Given the description of an element on the screen output the (x, y) to click on. 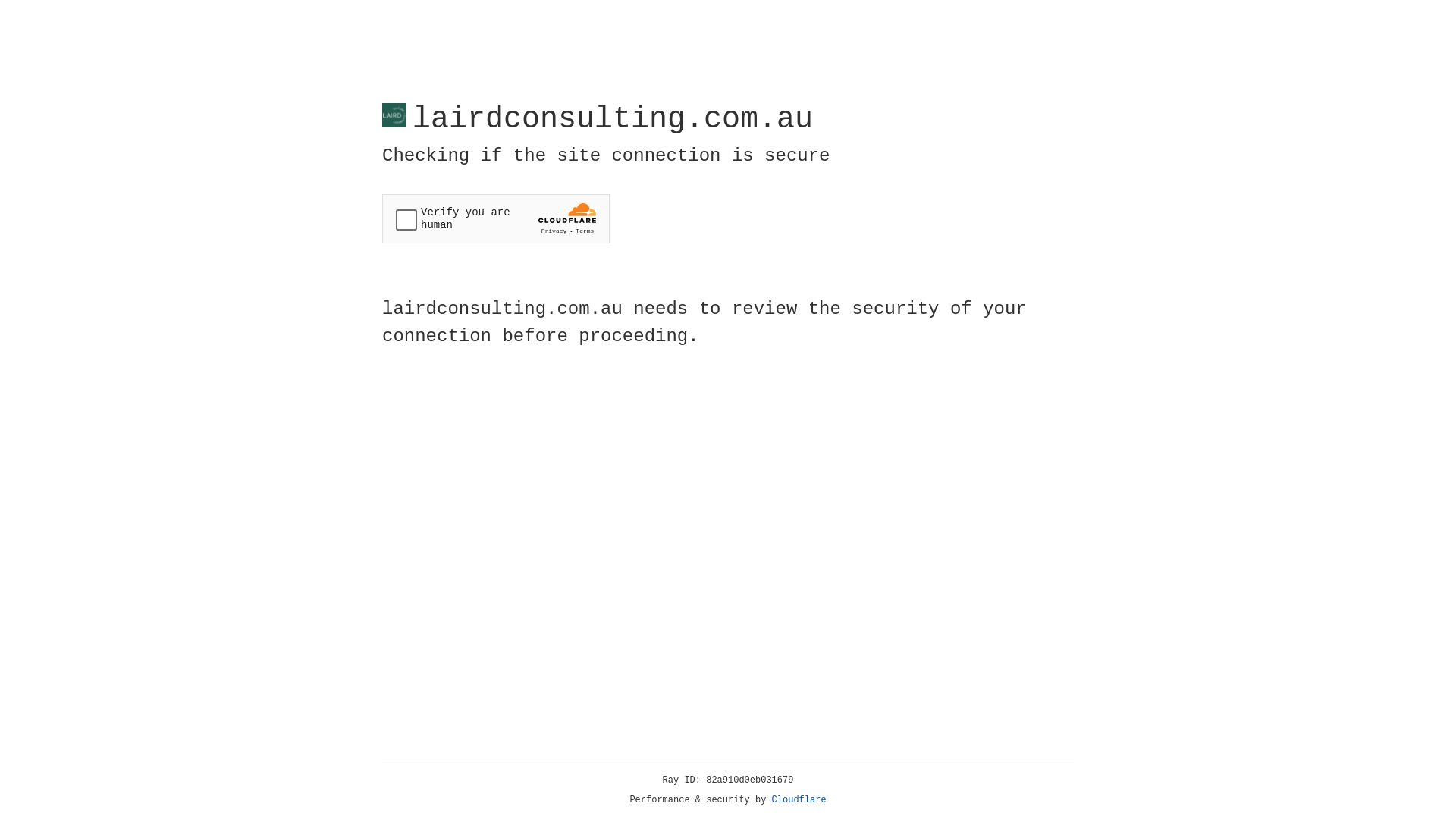
Cloudflare Element type: text (798, 799)
Widget containing a Cloudflare security challenge Element type: hover (495, 218)
